Given the description of an element on the screen output the (x, y) to click on. 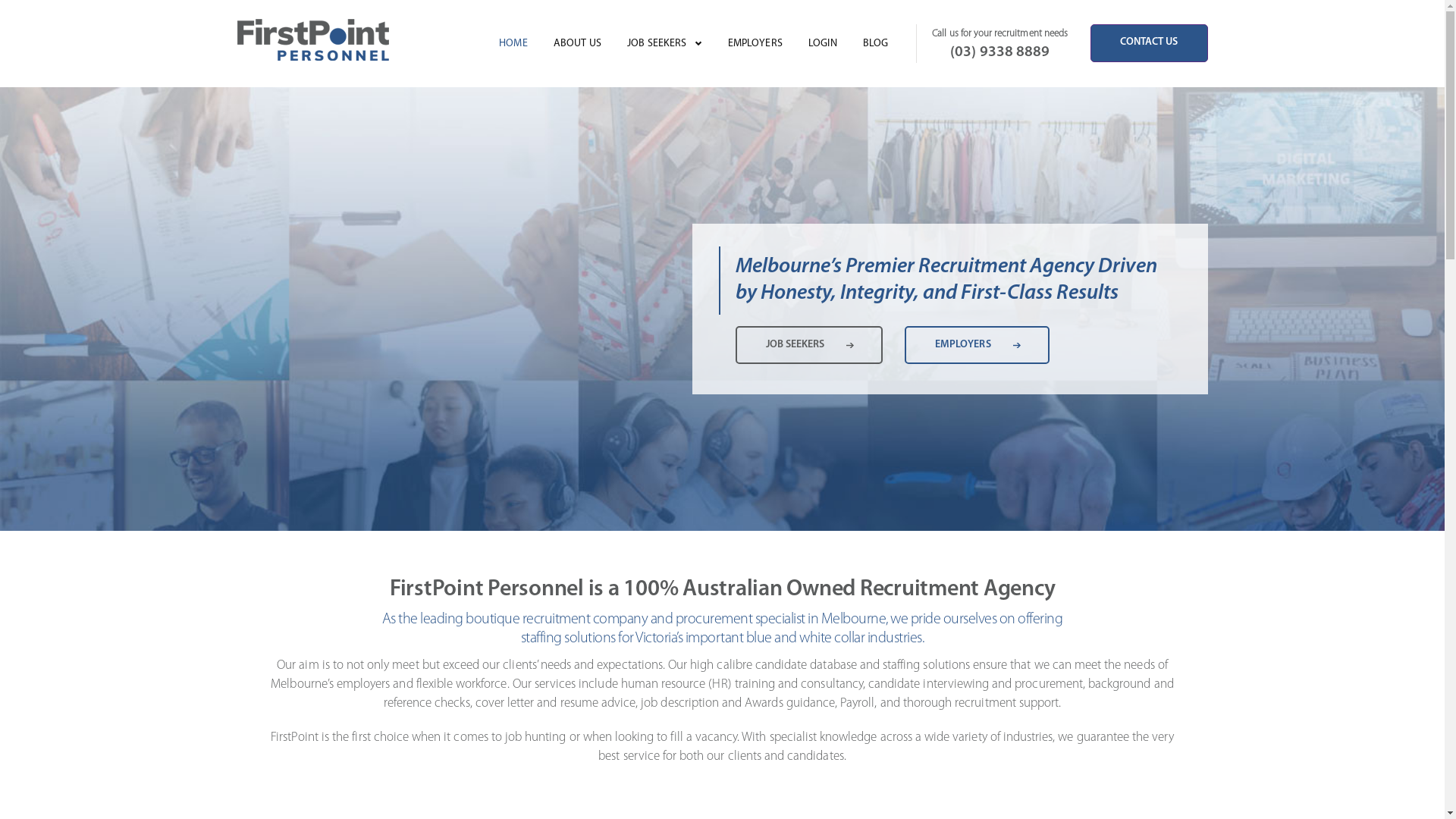
LOGIN Element type: text (822, 43)
EMPLOYERS Element type: text (755, 43)
BLOG Element type: text (875, 43)
HOME Element type: text (513, 43)
ABOUT US Element type: text (577, 43)
(03) 9338 8889 Element type: text (999, 51)
JOB SEEKERS Element type: text (809, 345)
EMPLOYERS Element type: text (976, 345)
JOB SEEKERS Element type: text (656, 43)
CONTACT US Element type: text (1149, 43)
